Given the description of an element on the screen output the (x, y) to click on. 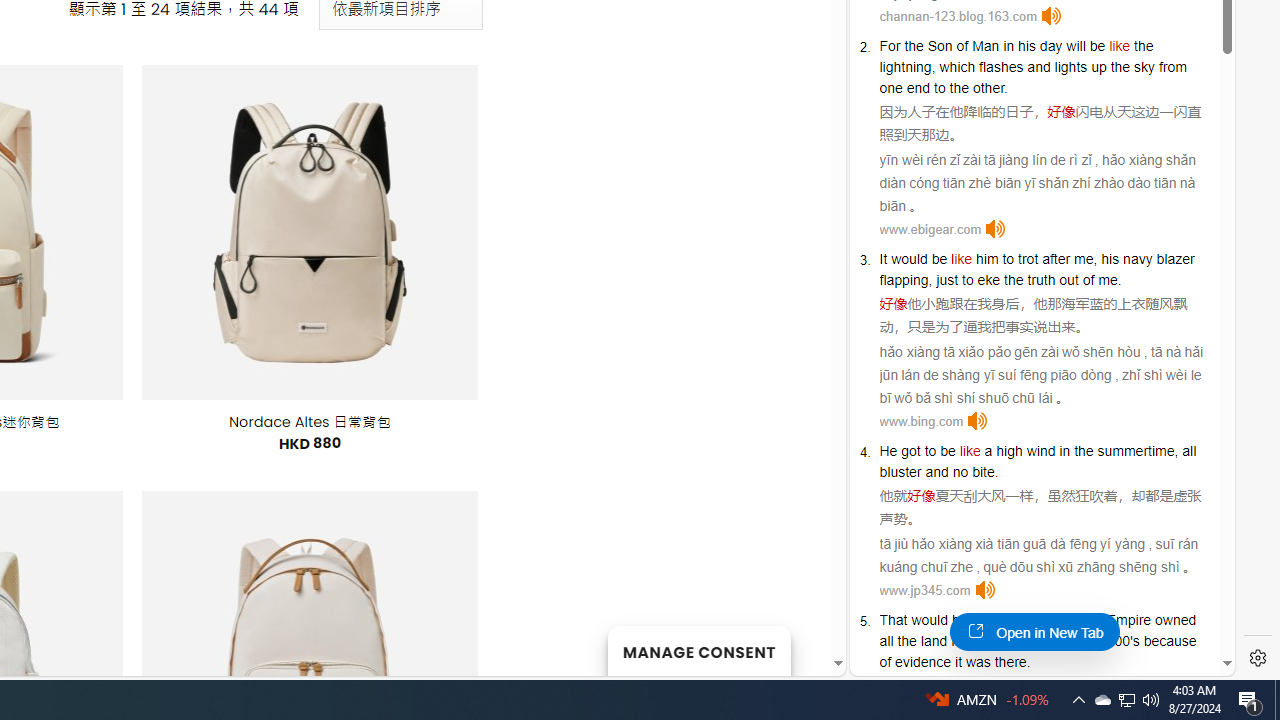
of (1087, 280)
him (986, 259)
owned (1175, 619)
summertime (1135, 450)
bluster (900, 471)
lightning (905, 66)
www.jp345.com (925, 590)
